Given the description of an element on the screen output the (x, y) to click on. 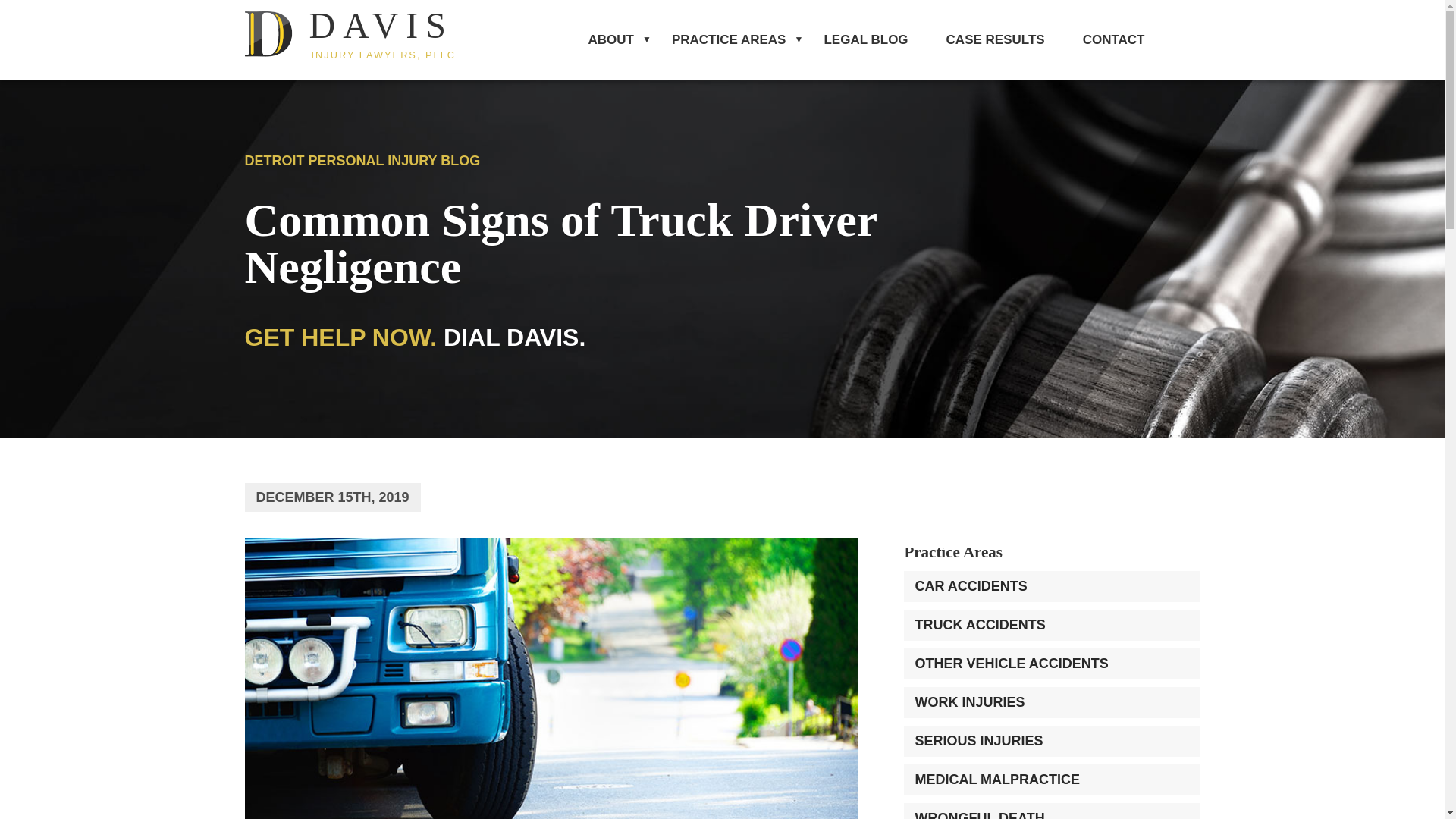
LEGAL BLOG (865, 43)
PRACTICE AREAS (728, 66)
CONTACT (357, 33)
CASE RESULTS (1113, 41)
